Given the description of an element on the screen output the (x, y) to click on. 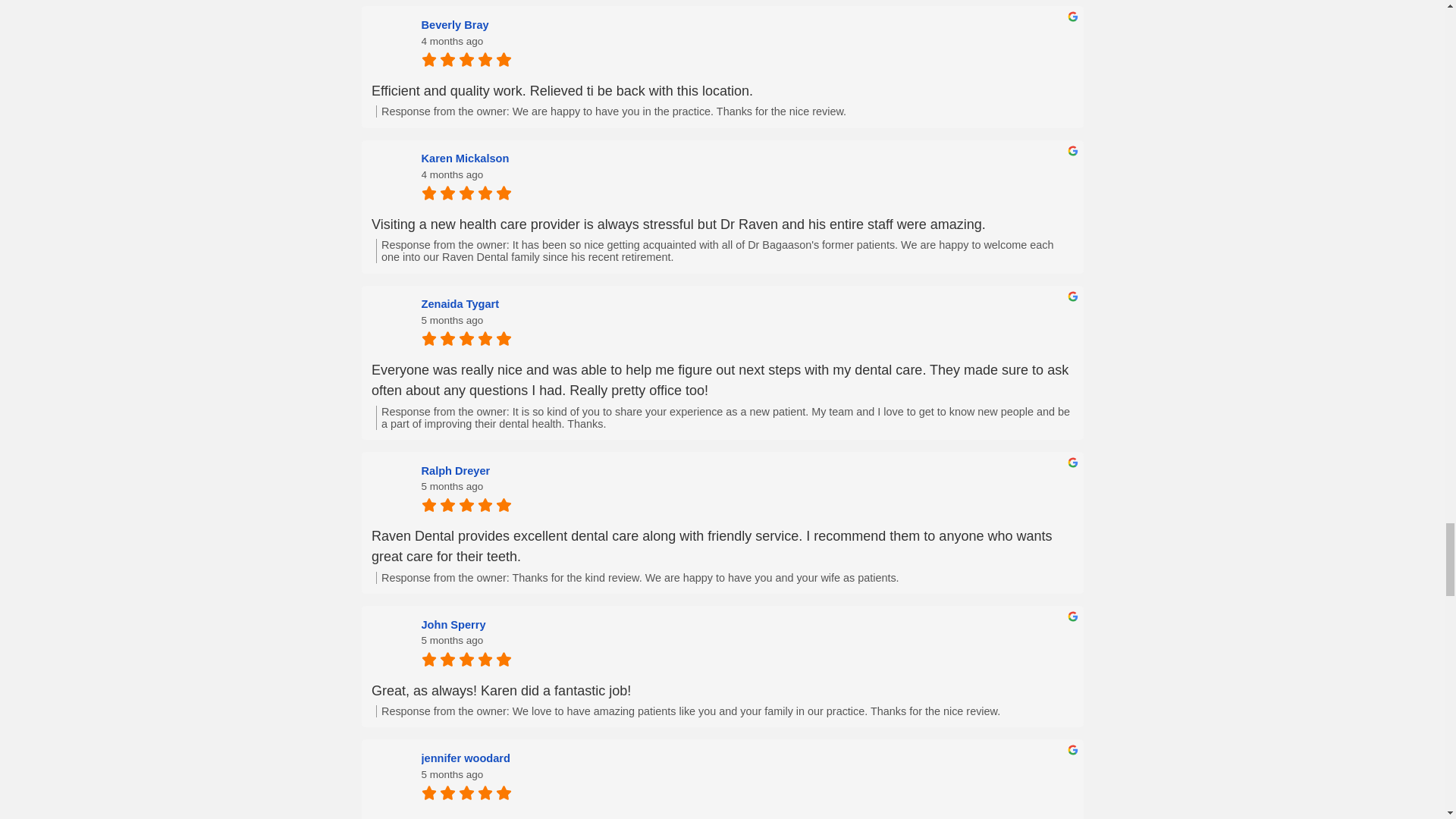
Great, as always! Karen did a fantastic job! (722, 690)
